Given the description of an element on the screen output the (x, y) to click on. 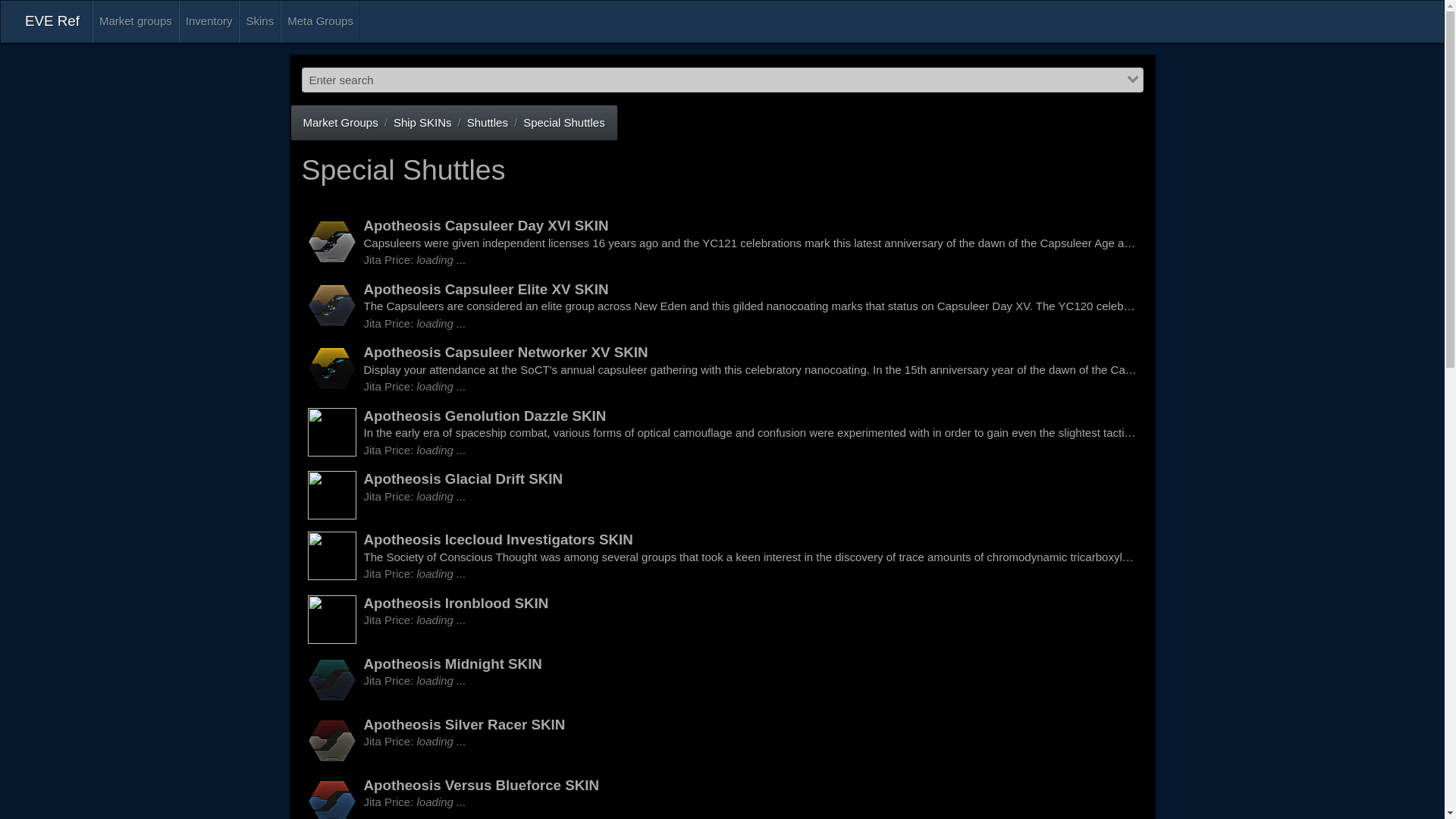
Market groups (721, 794)
Special Shuttles (136, 21)
EVE Ref (563, 121)
Ship SKINs (721, 740)
